Given the description of an element on the screen output the (x, y) to click on. 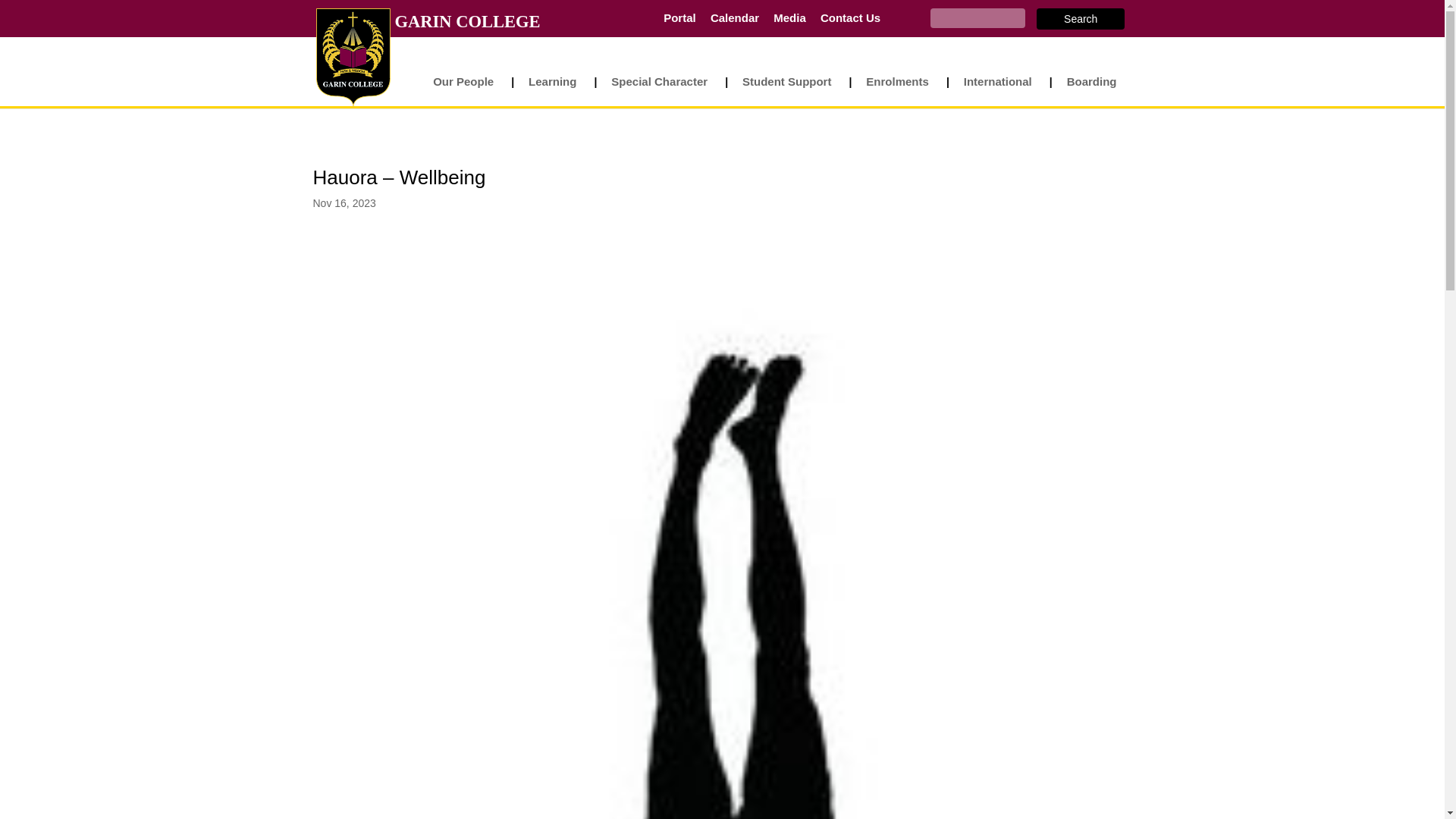
Calendar (734, 18)
Search (1080, 18)
Special Character (666, 91)
Portal (679, 18)
Our People (470, 91)
Learning (559, 91)
Media (789, 18)
Contact Us (850, 18)
